Given the description of an element on the screen output the (x, y) to click on. 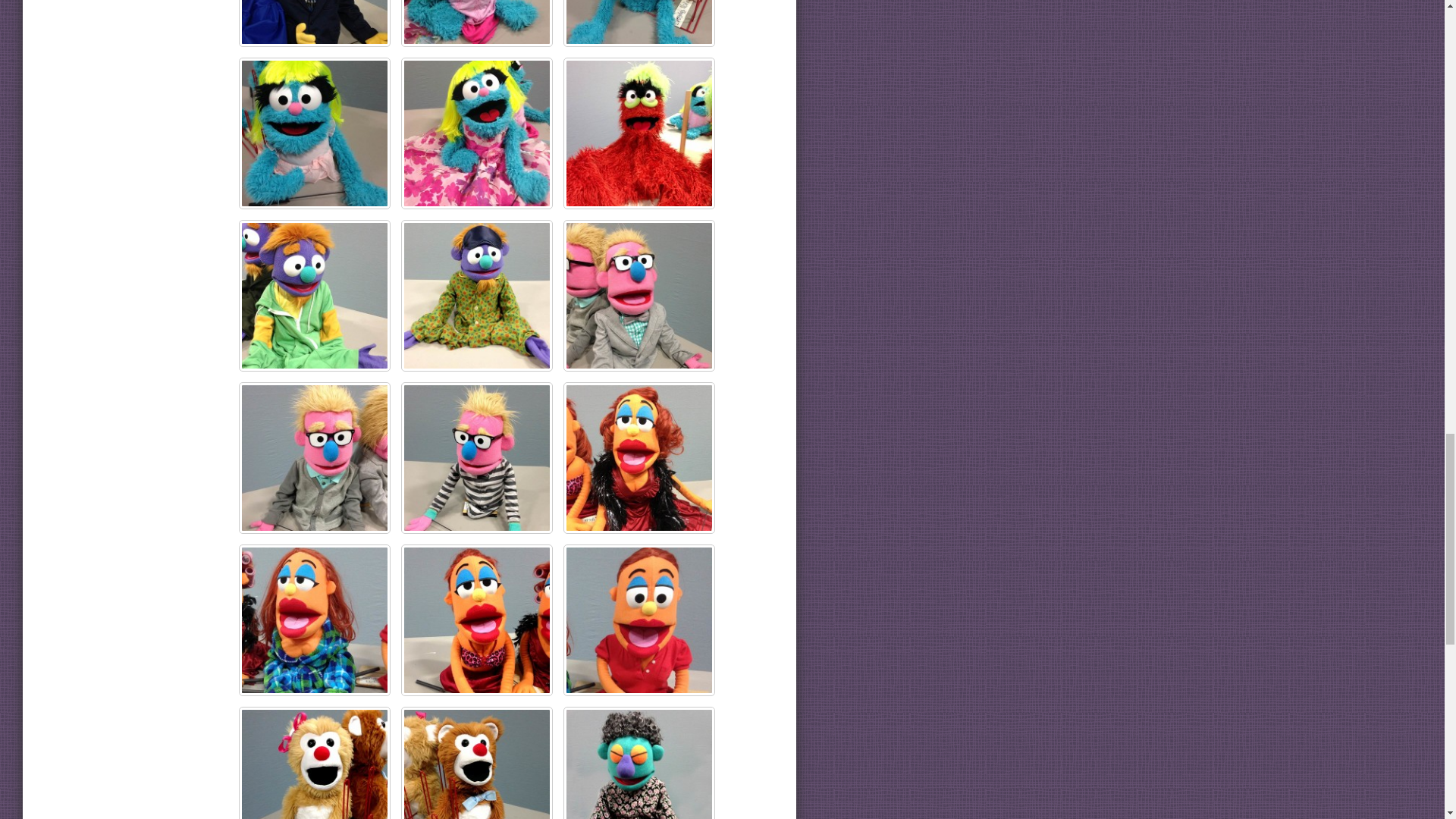
nicky-bedtime (477, 295)
katemonster-wedding (477, 133)
katemonster-casual1 (477, 23)
katemonster-naked (638, 23)
trekkie (638, 133)
princeton-suit (314, 23)
nicky-hoodie (314, 295)
rod-suit (638, 295)
katemonster-casual2 (314, 133)
